Given the description of an element on the screen output the (x, y) to click on. 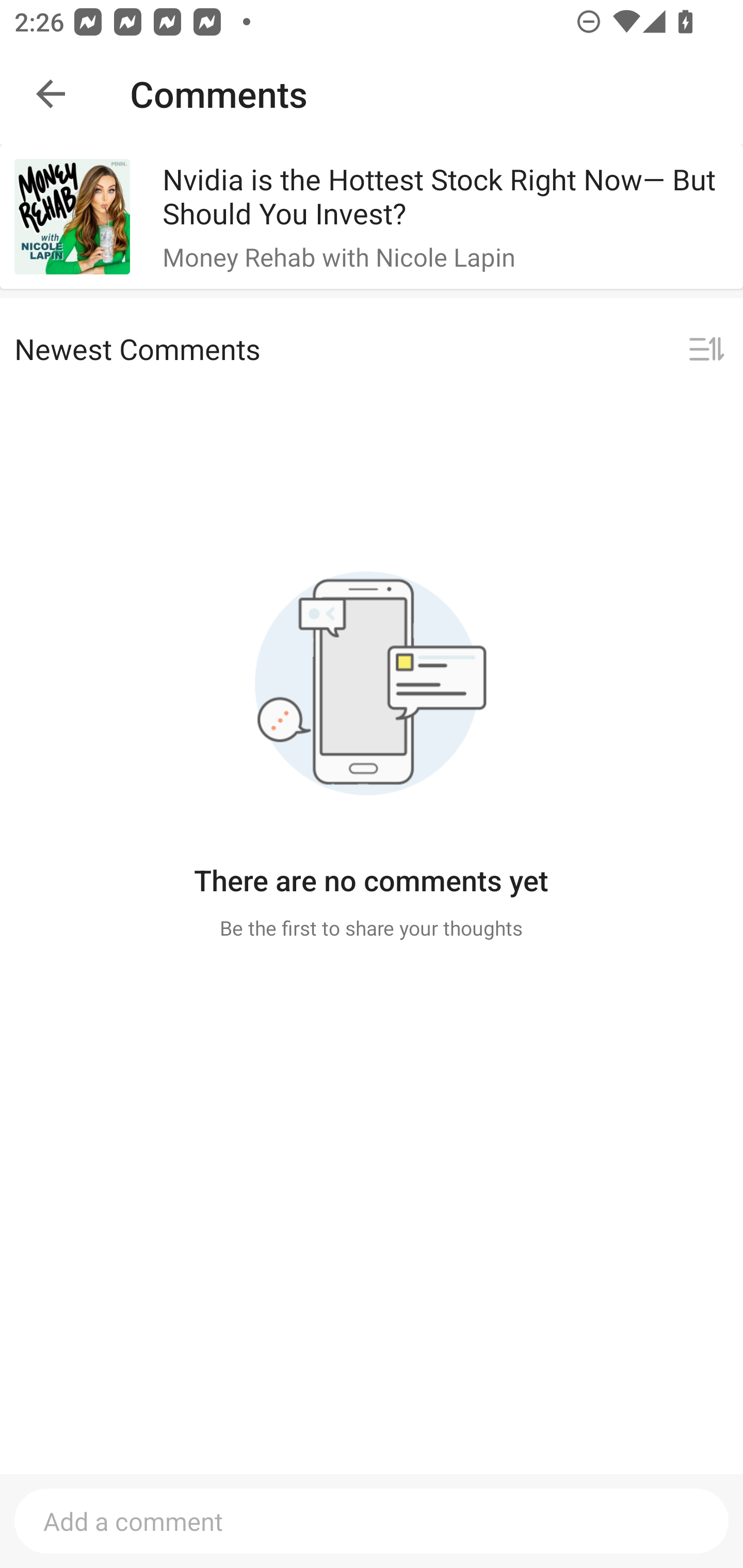
Navigate up (50, 93)
 (706, 349)
Add a comment (371, 1520)
